Given the description of an element on the screen output the (x, y) to click on. 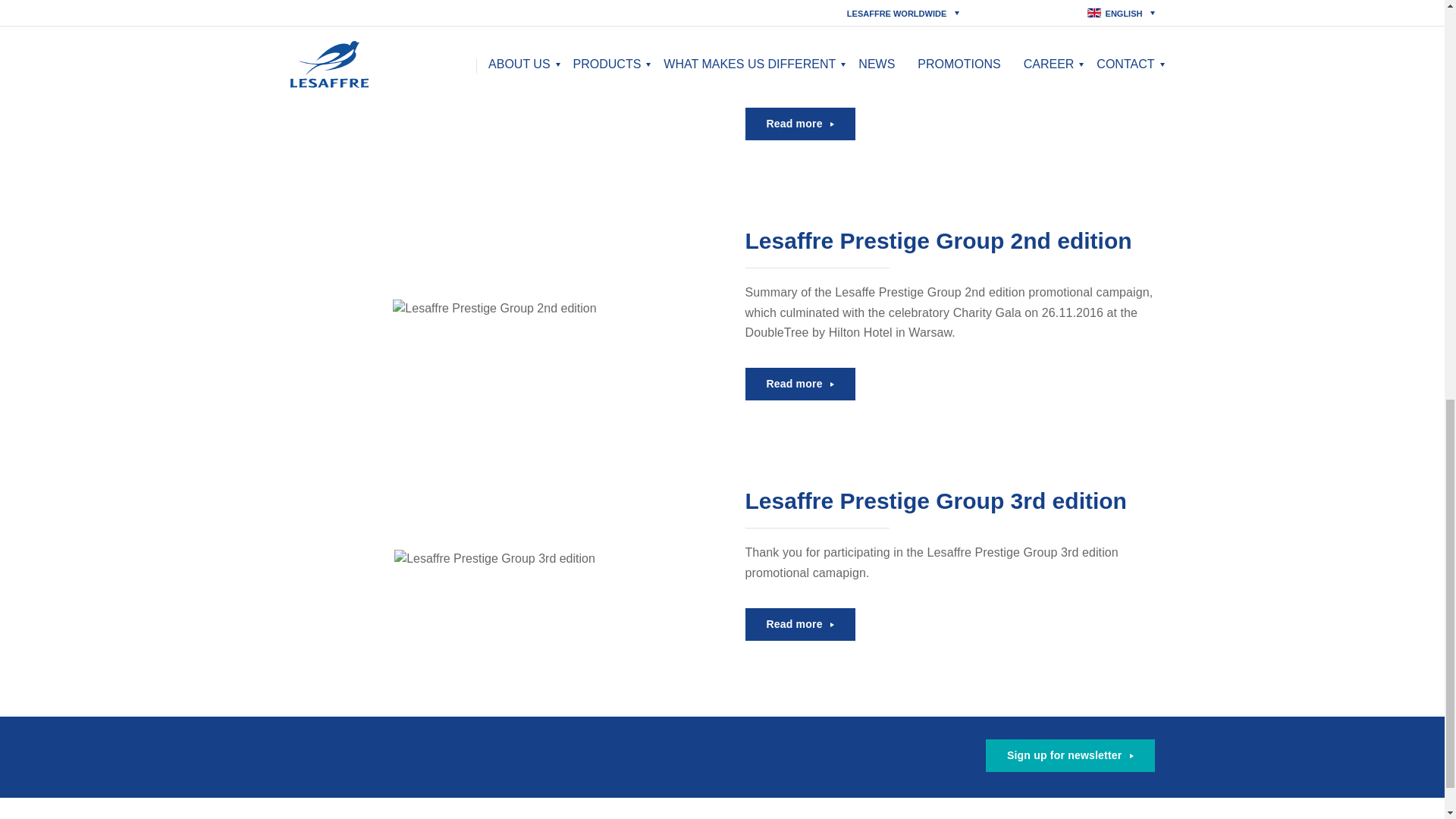
Sign up for newsletter (1069, 755)
